Given the description of an element on the screen output the (x, y) to click on. 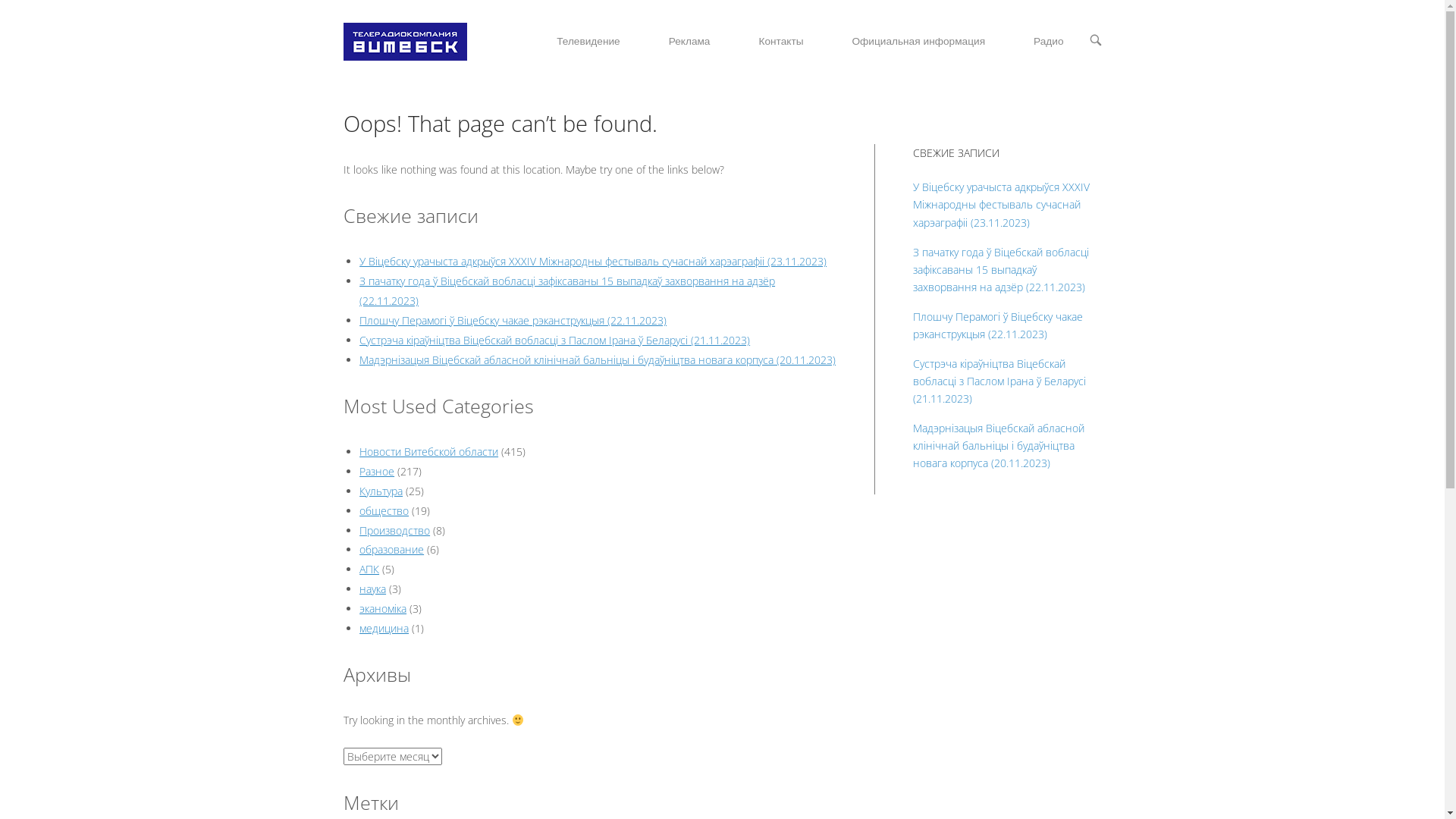
Home Element type: text (404, 40)
OPEN SEARCH BAR Element type: text (1094, 41)
